Given the description of an element on the screen output the (x, y) to click on. 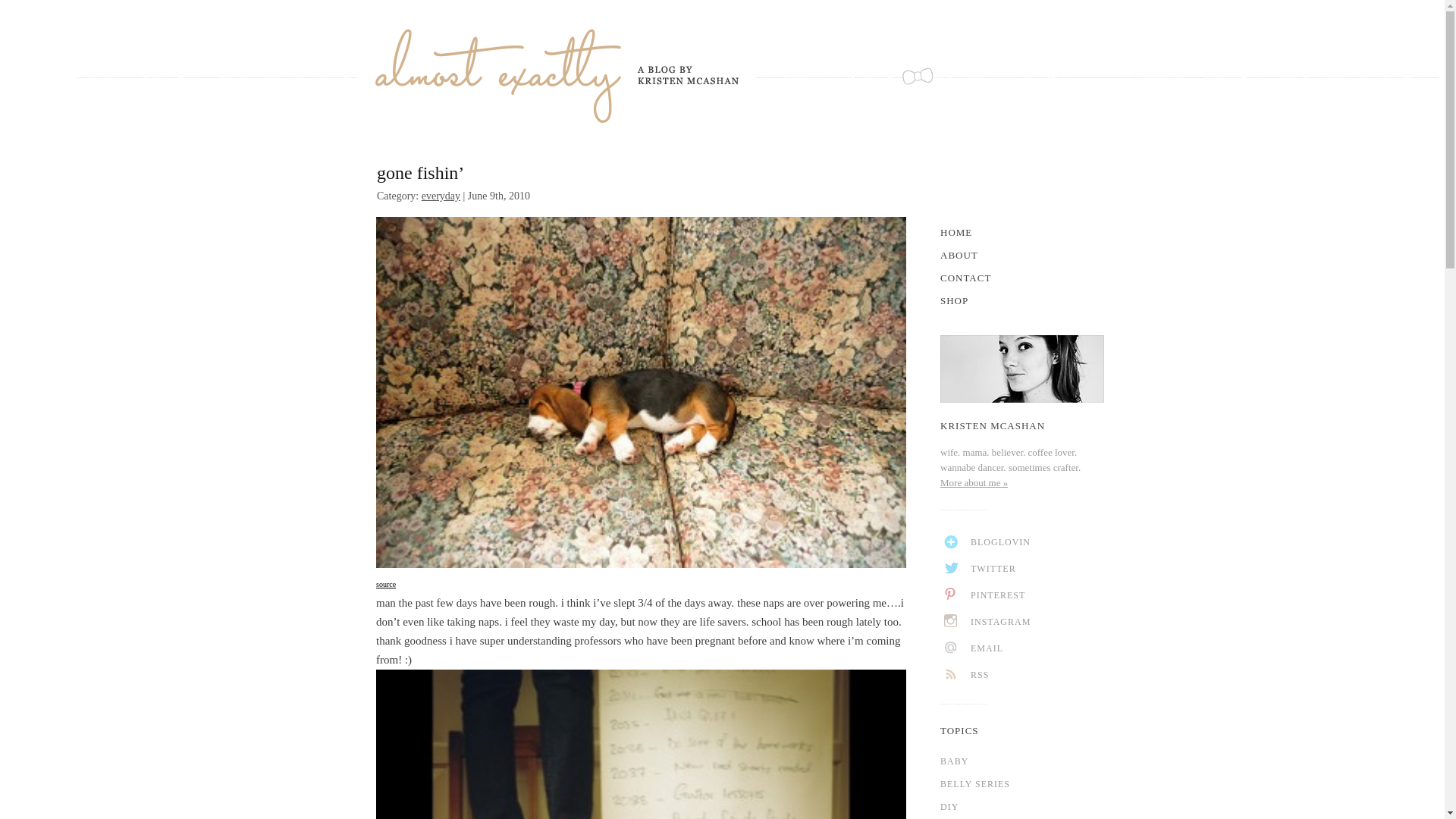
BABY (1021, 761)
RSS (1027, 674)
INSTAGRAM (1027, 622)
DIY (1021, 806)
everyday (441, 195)
SHOP (1021, 300)
HOME (1021, 232)
BLOGLOVIN (1027, 542)
TWITTER (1027, 569)
